Given the description of an element on the screen output the (x, y) to click on. 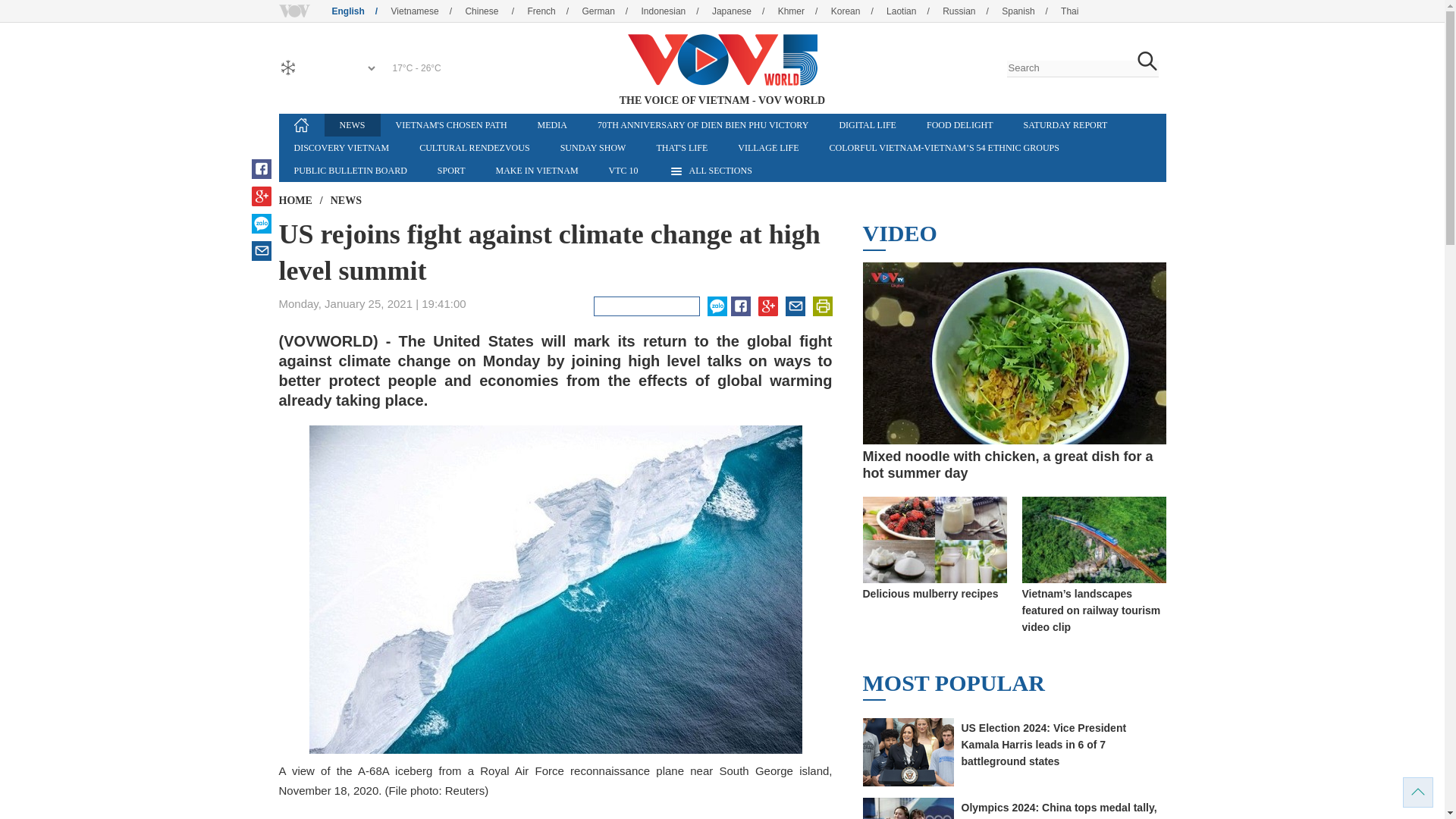
SATURDAY REPORT (1065, 124)
Saturday Report (1065, 124)
VTC 10 (623, 169)
Khmer (802, 10)
English (359, 10)
70th Anniversary of Dien Bien Phu Victory (703, 124)
VTC 10 (623, 169)
Sport (451, 169)
ALL SECTIONS (710, 169)
MAKE IN VIETNAM (536, 169)
